Given the description of an element on the screen output the (x, y) to click on. 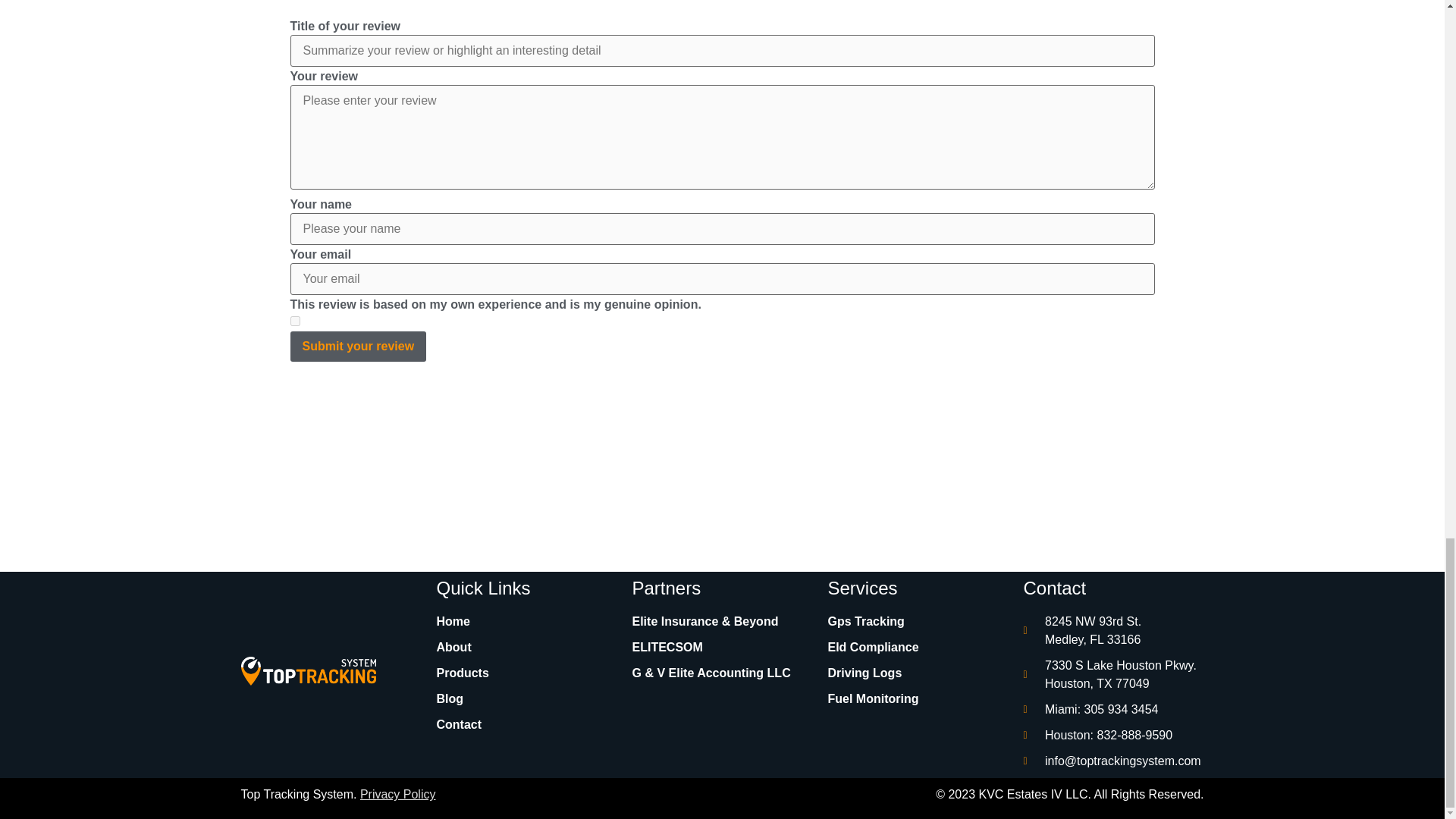
Contact (526, 724)
Products (526, 673)
Eld Compliance (918, 647)
Fuel Monitoring (918, 699)
Gps Tracking (918, 621)
Driving Logs (918, 673)
Blog (526, 699)
1 (294, 320)
Submit your review (357, 346)
Home (526, 621)
